Given the description of an element on the screen output the (x, y) to click on. 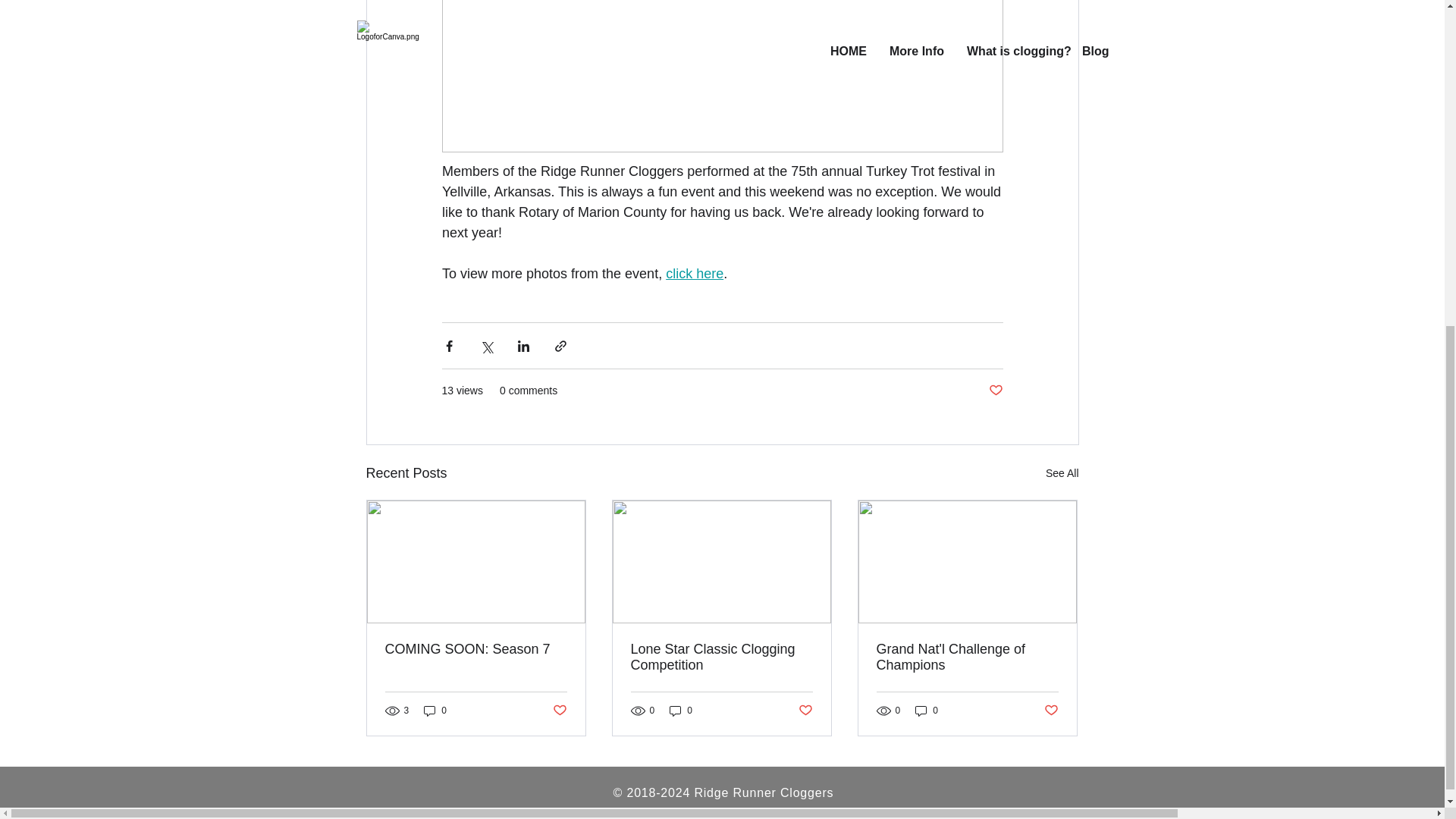
Lone Star Classic Clogging Competition (721, 657)
Grand Nat'l Challenge of Champions (967, 657)
0 (681, 710)
click here (694, 273)
0 (435, 710)
See All (1061, 473)
Post not marked as liked (804, 710)
Post not marked as liked (995, 390)
0 (926, 710)
Post not marked as liked (1050, 710)
COMING SOON: Season 7 (476, 649)
Post not marked as liked (558, 710)
